Given the description of an element on the screen output the (x, y) to click on. 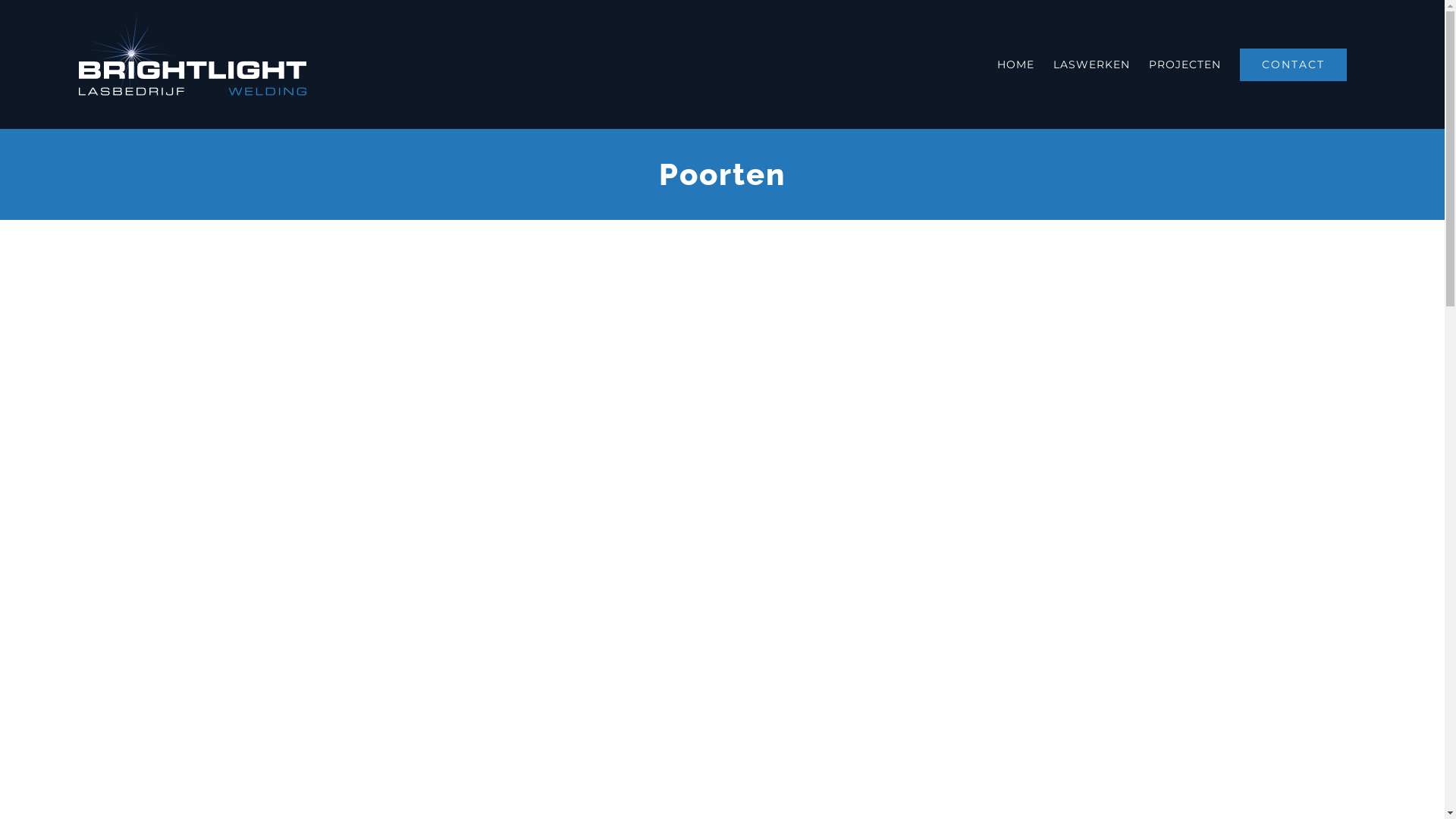
HOME Element type: text (1015, 64)
CONTACT Element type: text (1292, 64)
LASWERKEN Element type: text (1091, 64)
PROJECTEN Element type: text (1184, 64)
